Given the description of an element on the screen output the (x, y) to click on. 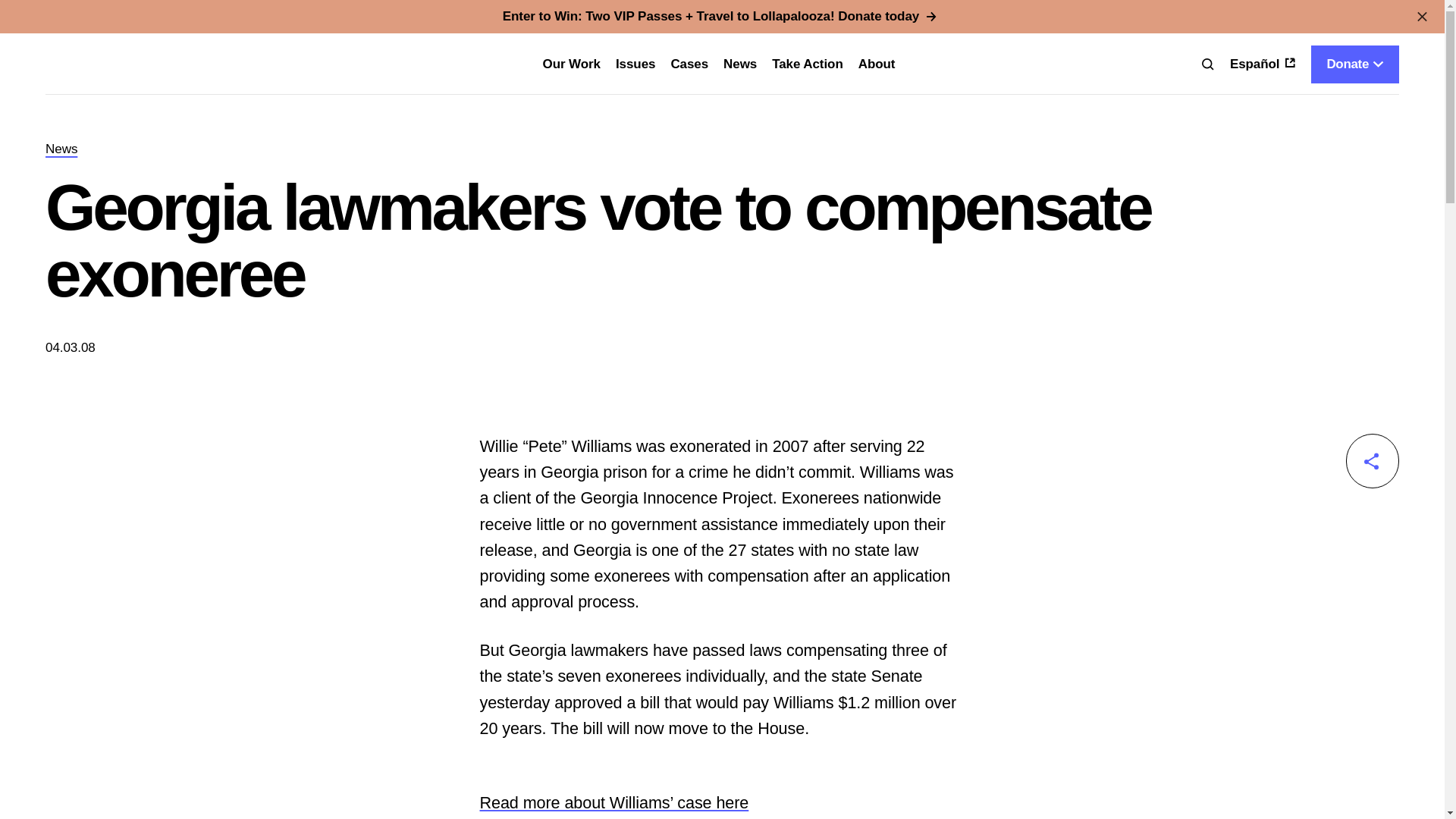
Our Work (573, 64)
Take Action (807, 64)
Search (1207, 63)
